Given the description of an element on the screen output the (x, y) to click on. 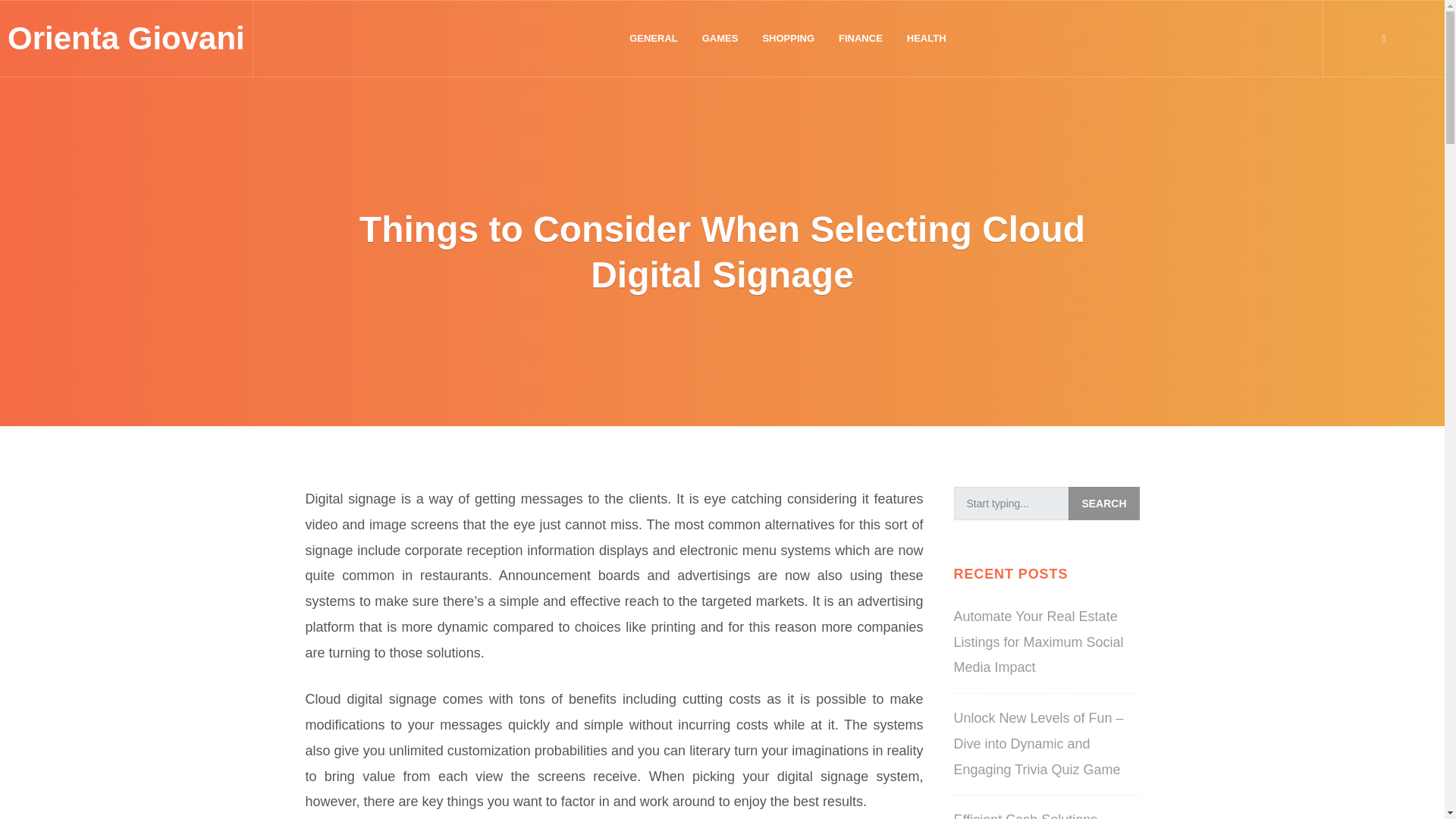
FINANCE (861, 38)
Orienta Giovani (125, 38)
Search (1103, 503)
Orienta Giovani (125, 38)
GAMES (720, 38)
HEALTH (926, 38)
SHOPPING (788, 38)
GENERAL (653, 38)
Search (1103, 503)
